Given the description of an element on the screen output the (x, y) to click on. 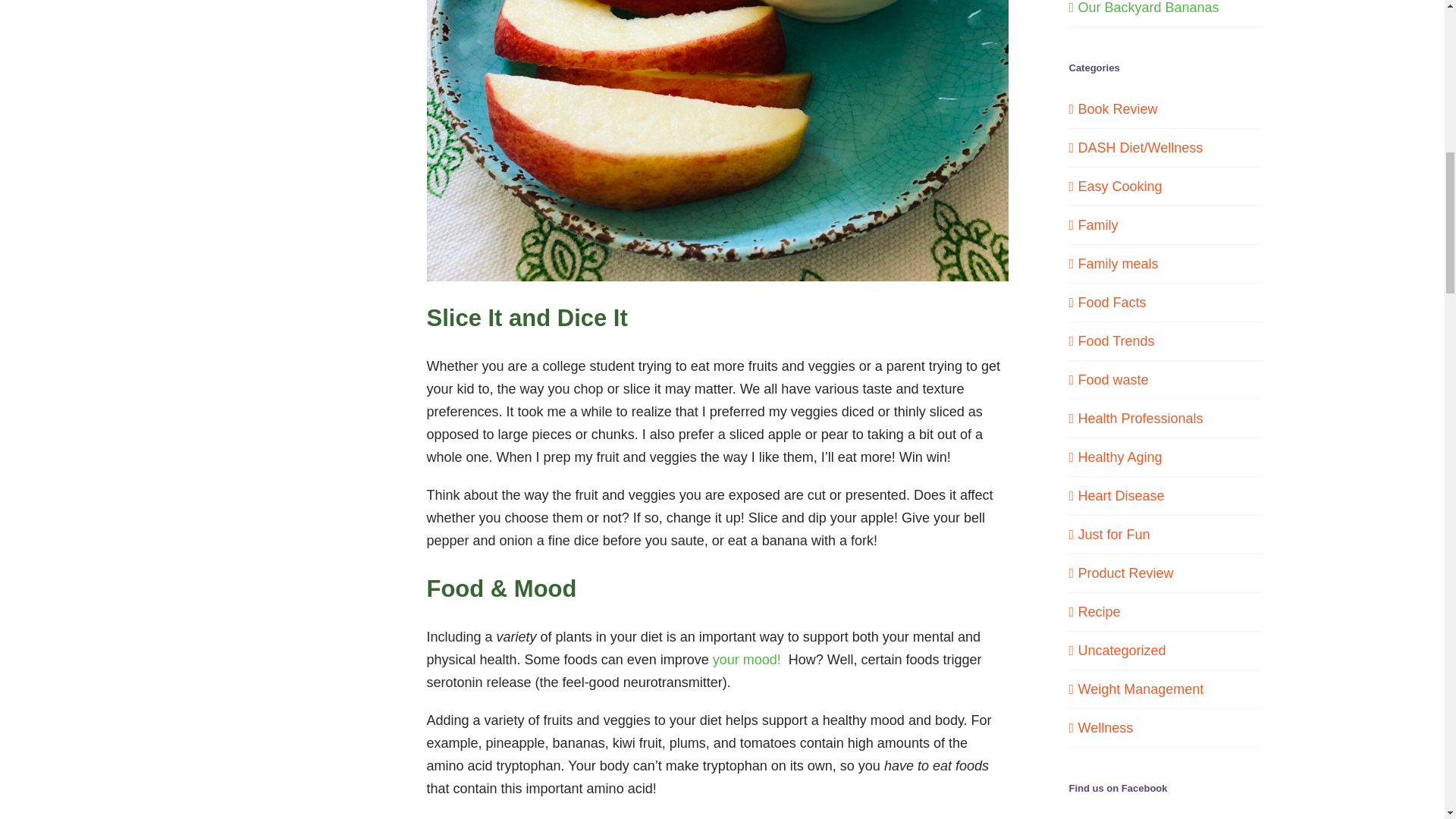
your mood! (746, 659)
